Given the description of an element on the screen output the (x, y) to click on. 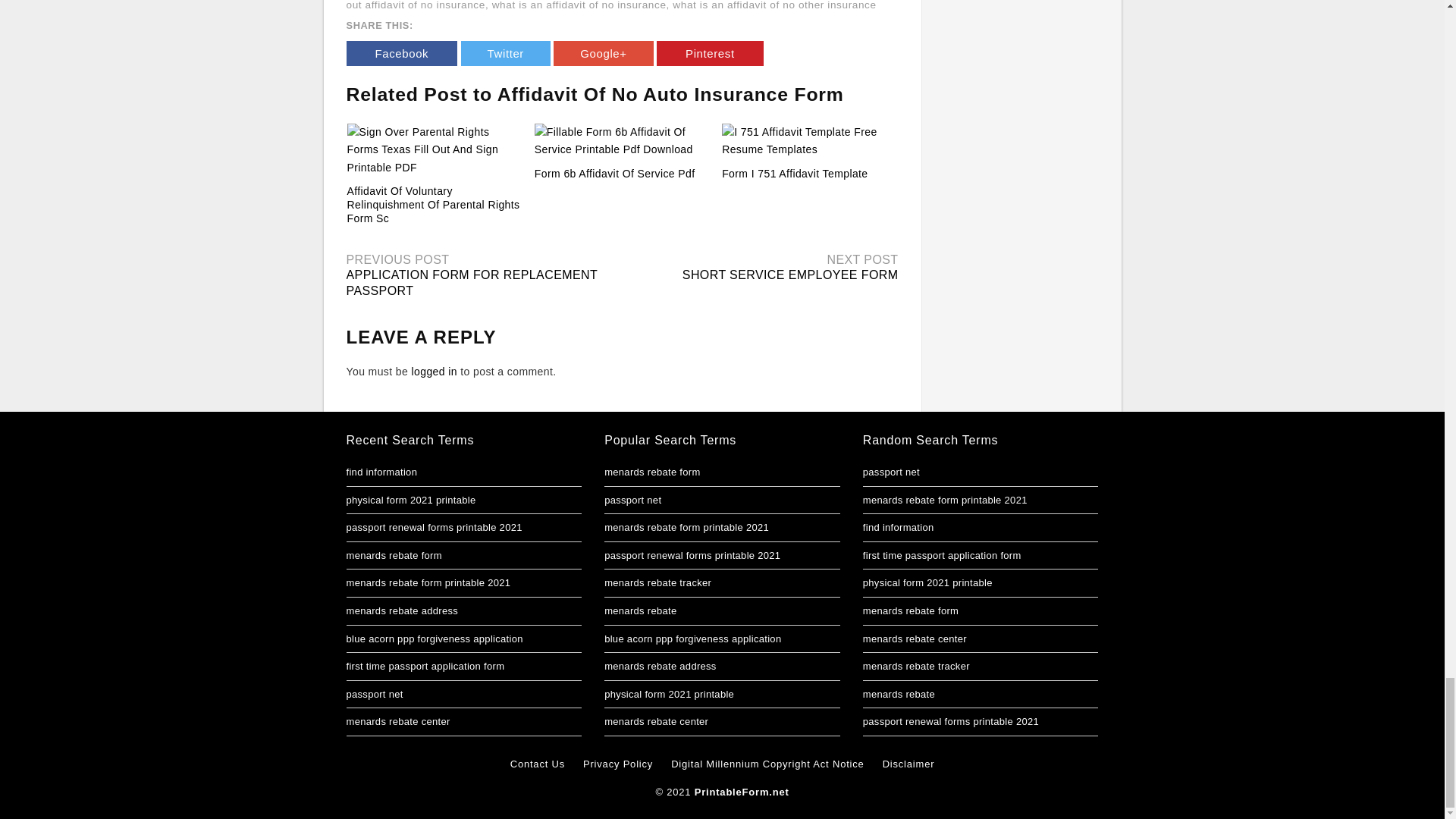
what is an affidavit of no insurance (579, 5)
Facebook (401, 53)
Form I 751 Affidavit Template (794, 173)
Twitter (505, 53)
Pinterest (709, 53)
APPLICATION FORM FOR REPLACEMENT PASSPORT (471, 282)
how to fill out affidavit of no insurance (616, 5)
SHORT SERVICE EMPLOYEE FORM (790, 274)
Form 6b Affidavit Of Service Pdf (614, 173)
